Given the description of an element on the screen output the (x, y) to click on. 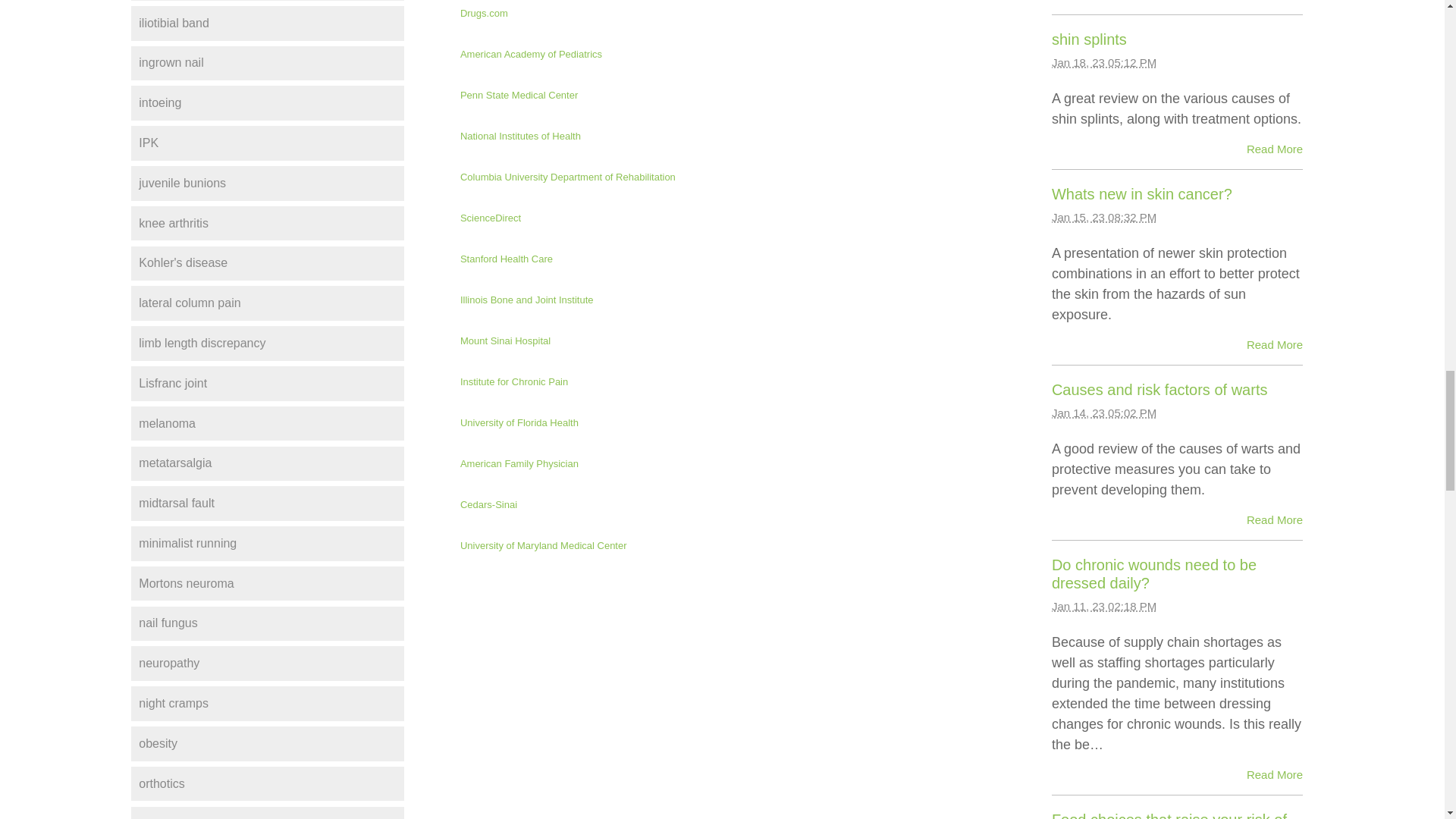
2023-01-11T14:18:29-0500 (1103, 605)
2023-01-15T20:32:37-0500 (1103, 216)
2023-01-18T17:12:39-0500 (1103, 62)
2023-01-14T17:02:21-0500 (1103, 412)
